Given the description of an element on the screen output the (x, y) to click on. 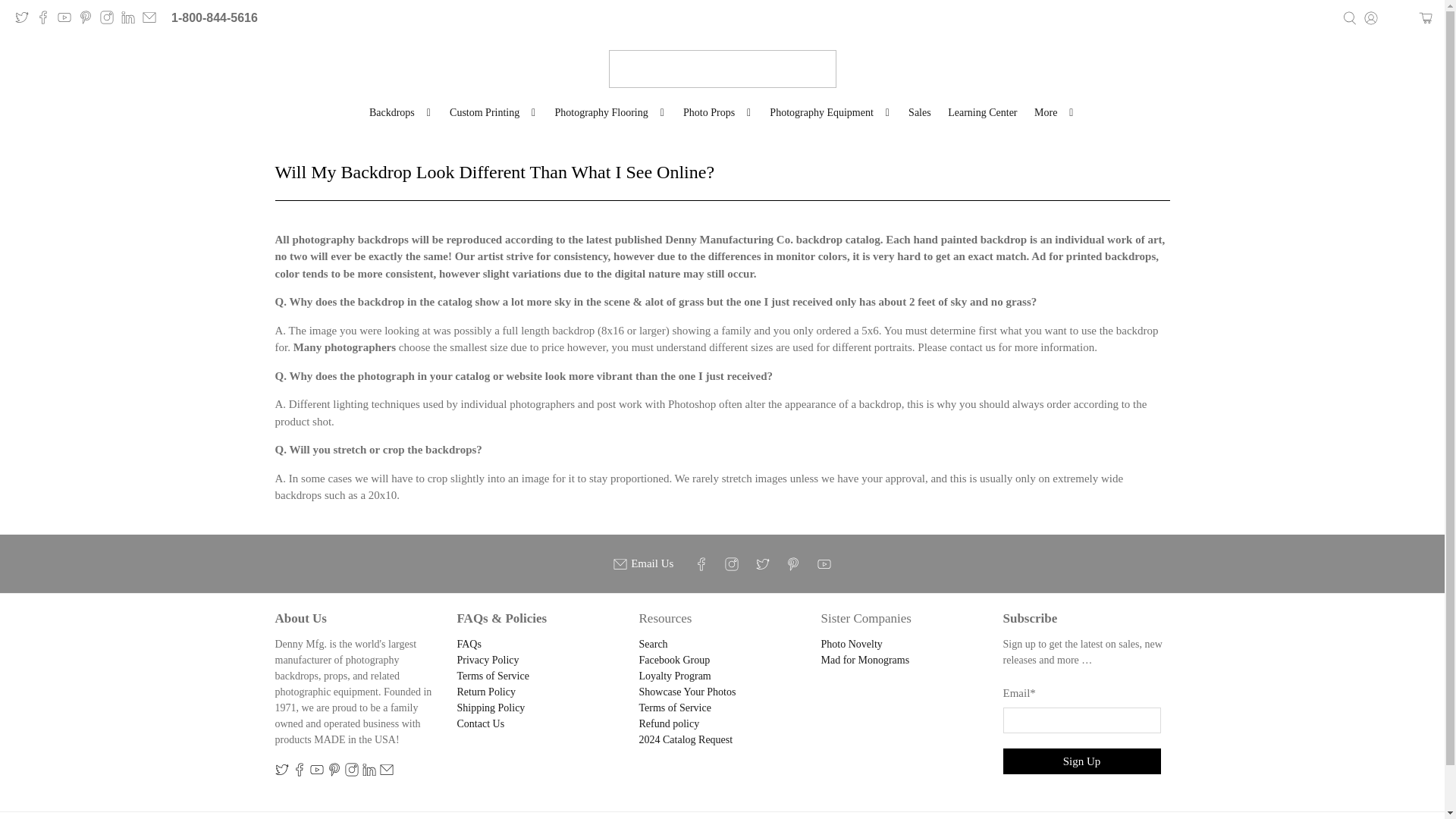
Denny Manufacturing on Facebook (47, 19)
Denny Manufacturing on Twitter (25, 19)
Denny Manufacturing on LinkedIn (131, 19)
Denny Manufacturing (721, 68)
Backdrops (401, 112)
Denny Manufacturing on YouTube (68, 19)
Email Denny Manufacturing (152, 19)
Denny Manufacturing on Instagram (110, 19)
Denny Manufacturing on Pinterest (89, 19)
Photography Flooring (610, 112)
